Given the description of an element on the screen output the (x, y) to click on. 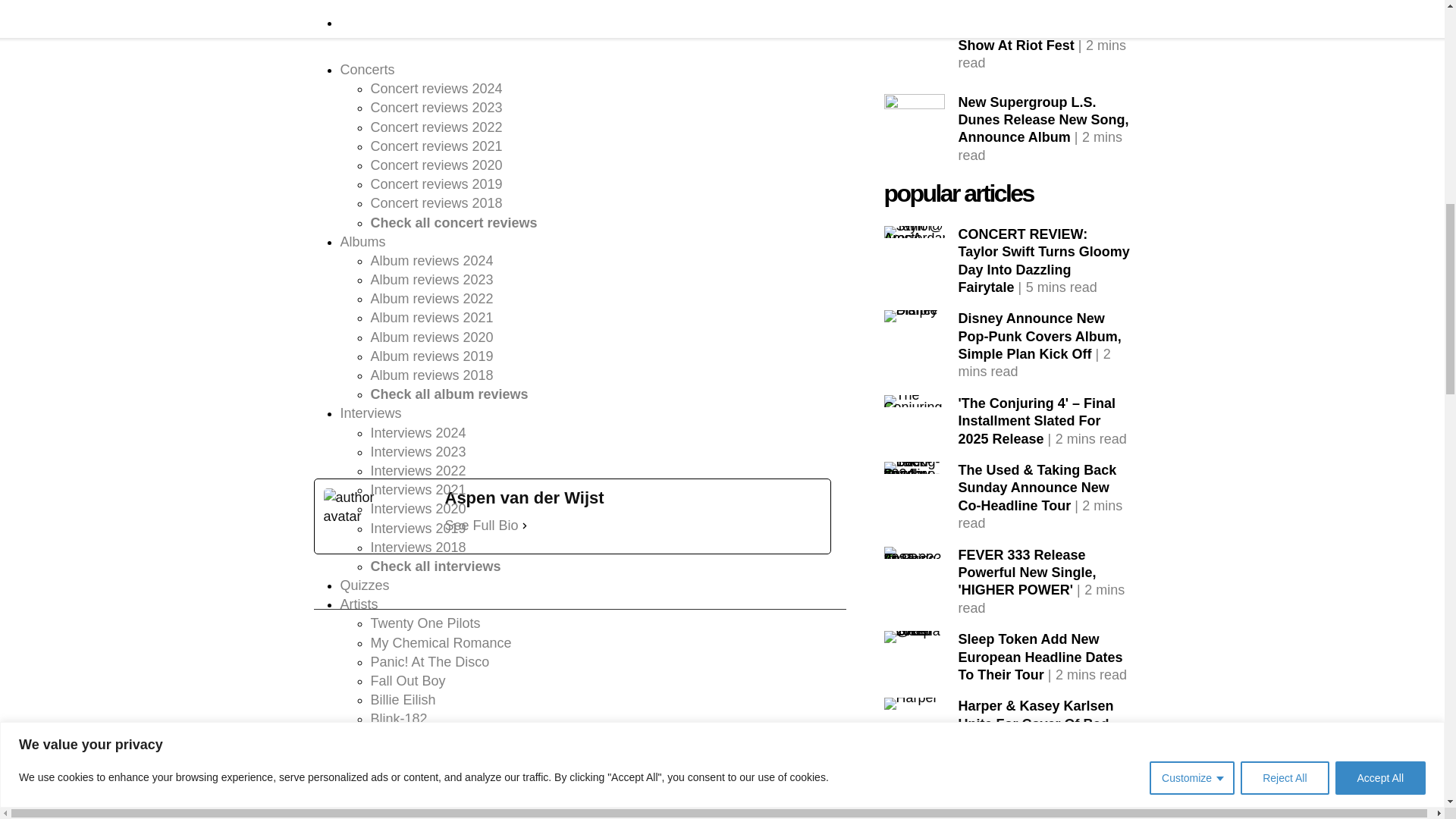
Spotify Embed: Benadryl Subreddit (572, 382)
L.S. Dunes - Strife Mag (913, 49)
Harper - Strife Mag (910, 703)
Palaye Royale - Strife Mag (913, 788)
Taylor Swift Amsterdam ArenA-28 - Strife Mag (913, 232)
The Conjuring - Strife Mag (913, 400)
L.S. Dunes - Strife Mag (913, 2)
Simple Plan Disney - Strife Mag (913, 316)
L.S. Dunes - Strife Mag (913, 124)
